Given the description of an element on the screen output the (x, y) to click on. 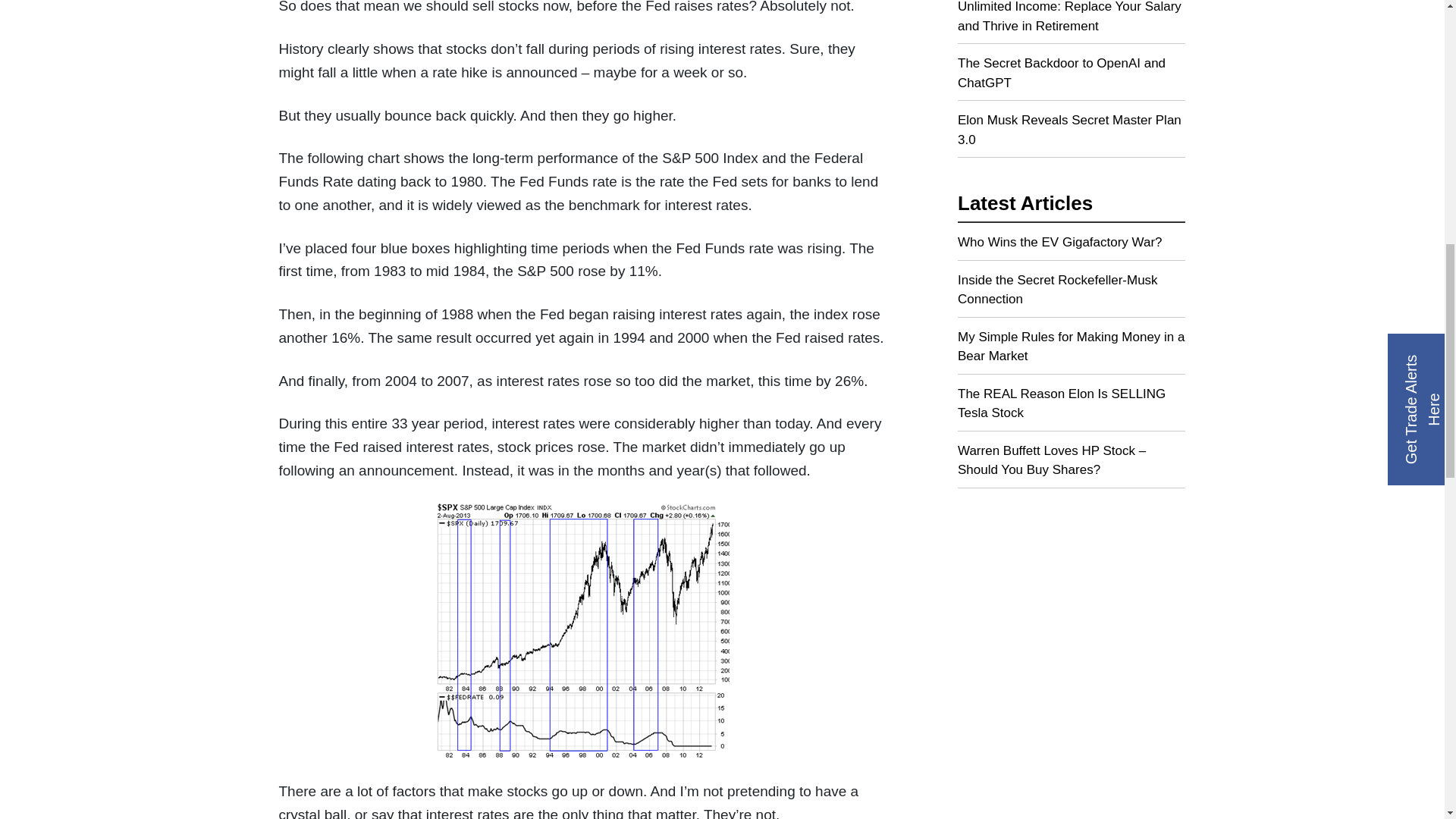
Who Wins the EV Gigafactory War? (1071, 246)
The REAL Reason Elon Is SELLING Tesla Stock (1071, 407)
The Secret Backdoor to OpenAI and ChatGPT (1071, 77)
Elon Musk Reveals Secret Master Plan 3.0 (1071, 134)
Inside the Secret Rockefeller-Musk Connection (1071, 294)
My Simple Rules for Making Money in a Bear Market (1071, 350)
